Given the description of an element on the screen output the (x, y) to click on. 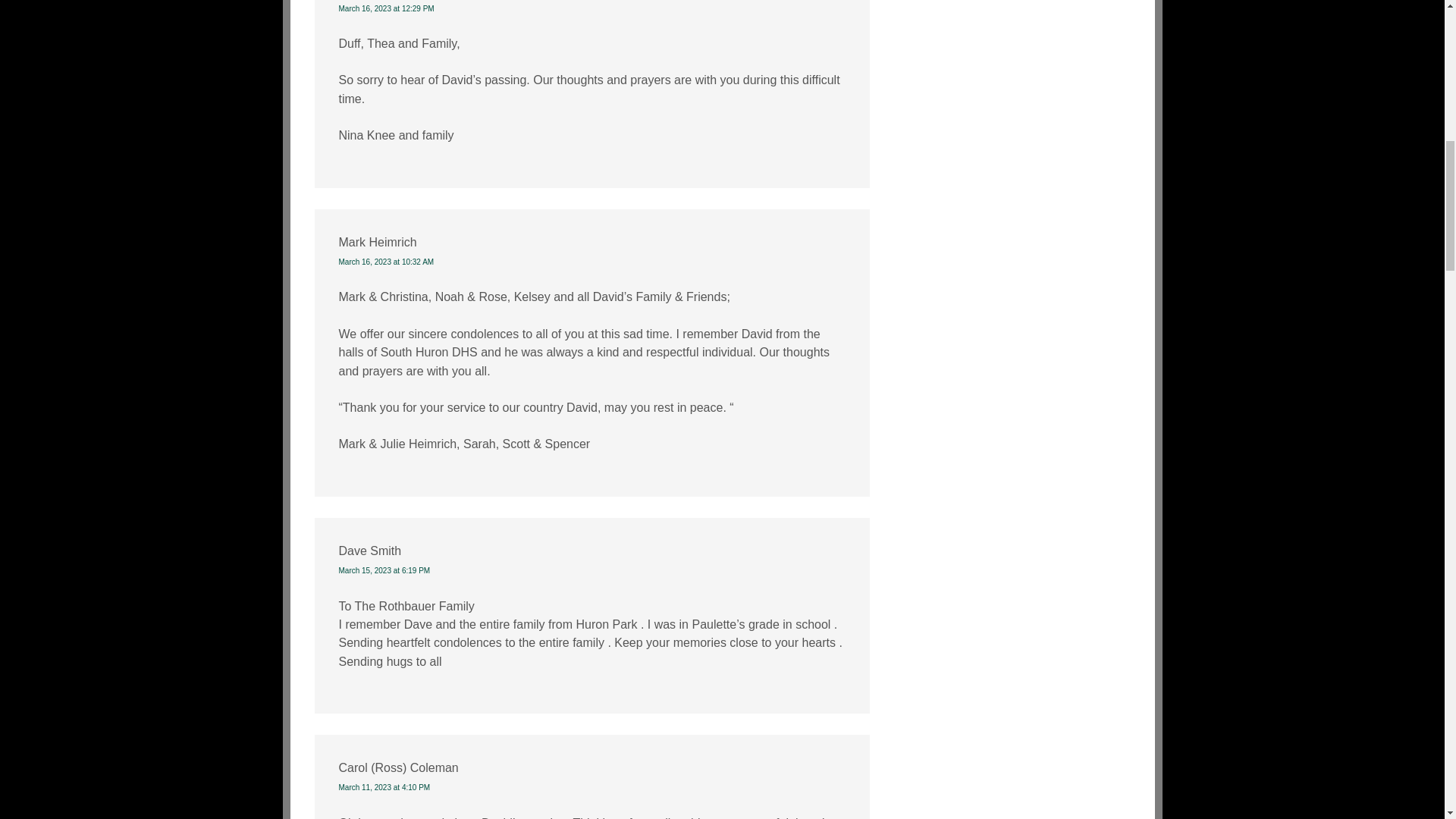
March 16, 2023 at 12:29 PM (385, 8)
March 16, 2023 at 10:32 AM (385, 261)
March 11, 2023 at 4:10 PM (383, 786)
March 15, 2023 at 6:19 PM (383, 570)
